Given the description of an element on the screen output the (x, y) to click on. 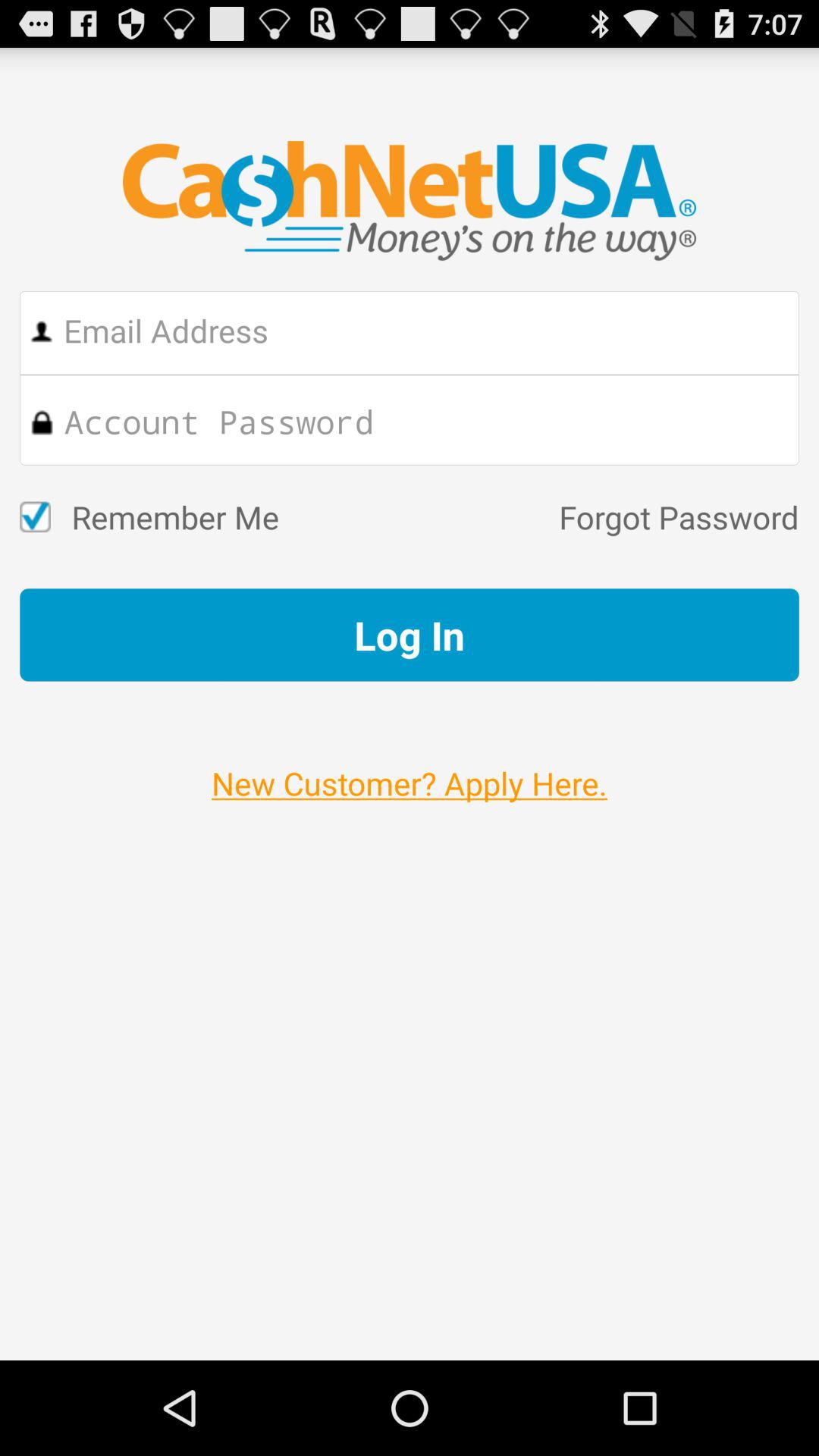
choose the item above log in button (539, 516)
